Given the description of an element on the screen output the (x, y) to click on. 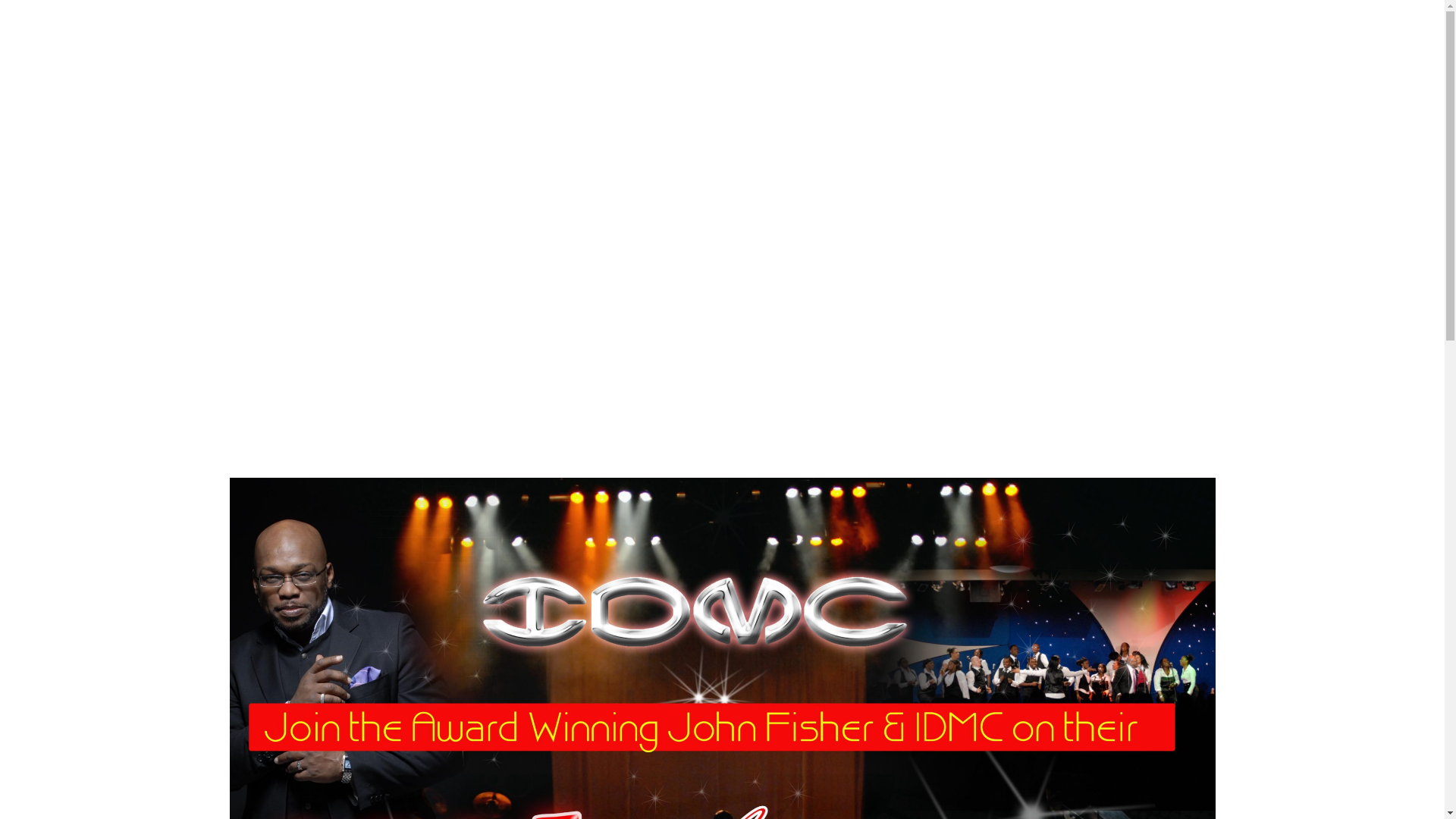
GALLERIES (1124, 47)
GET IN TOUCH (1310, 47)
SERVICES (1022, 47)
